Given the description of an element on the screen output the (x, y) to click on. 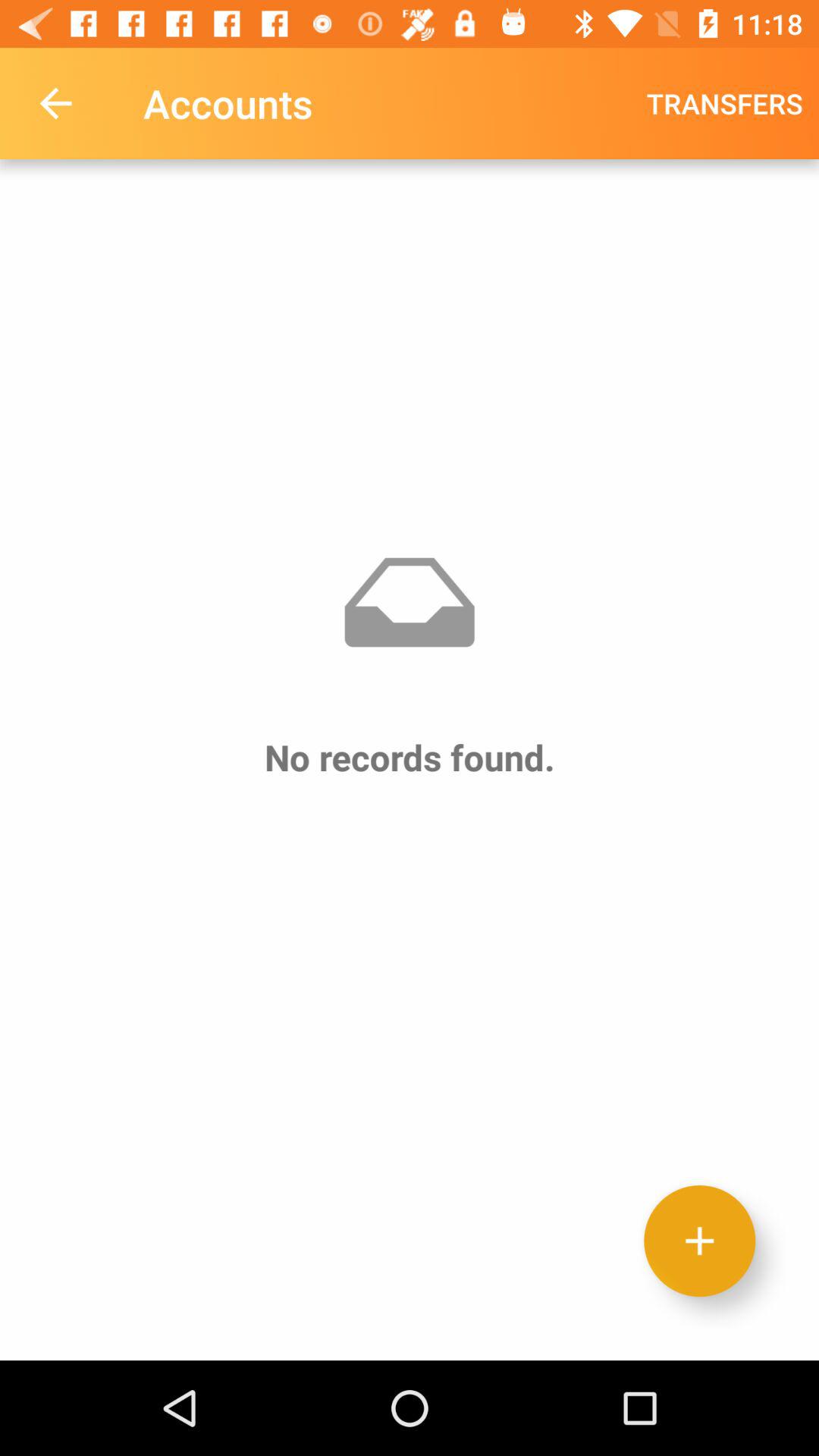
add a record (699, 1240)
